Given the description of an element on the screen output the (x, y) to click on. 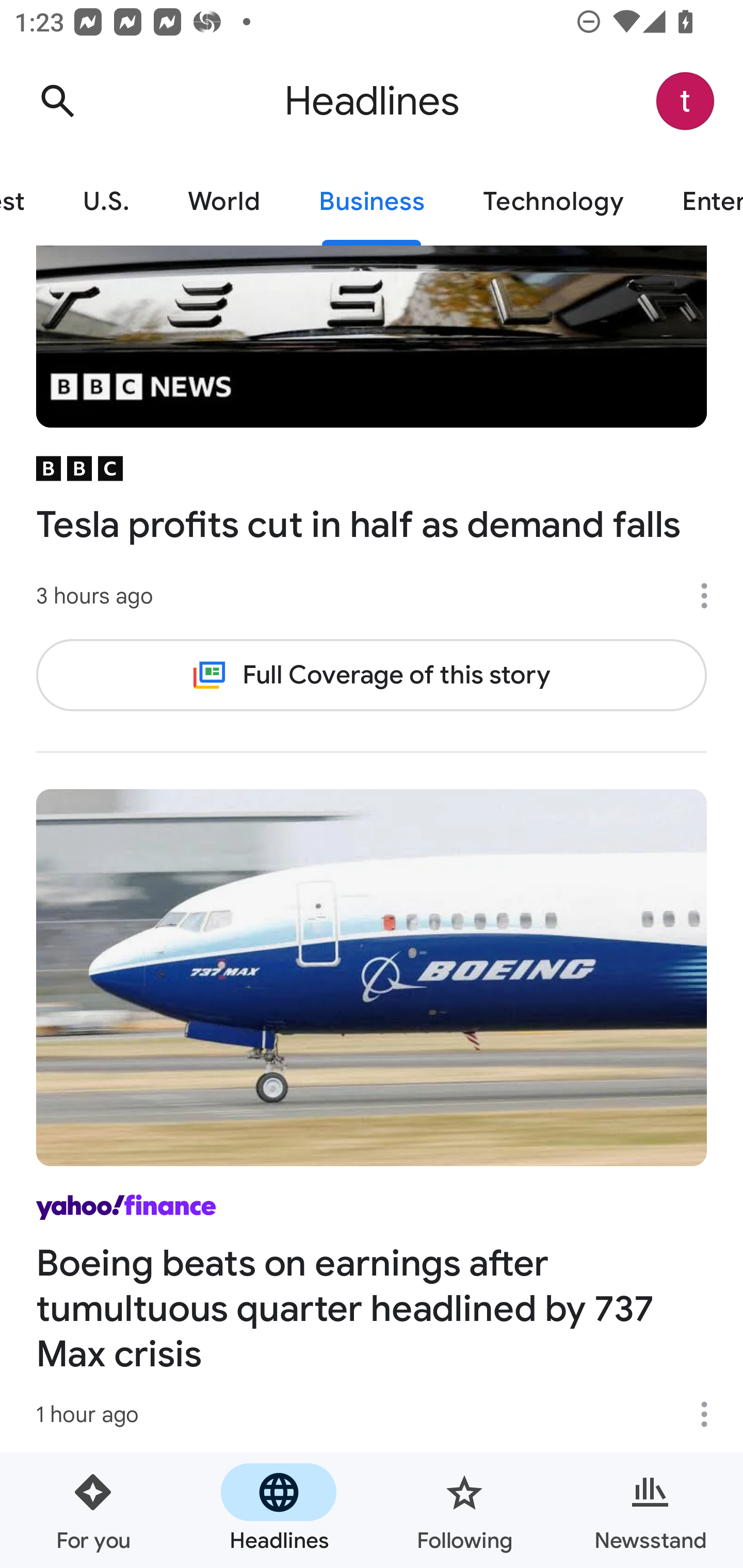
Search (57, 100)
U.S. (106, 202)
World (224, 202)
Technology (552, 202)
Entertainment (697, 202)
More options (711, 595)
Full Coverage of this story (371, 675)
More options (711, 1414)
For you (92, 1509)
Headlines (278, 1509)
Following (464, 1509)
Newsstand (650, 1509)
